Given the description of an element on the screen output the (x, y) to click on. 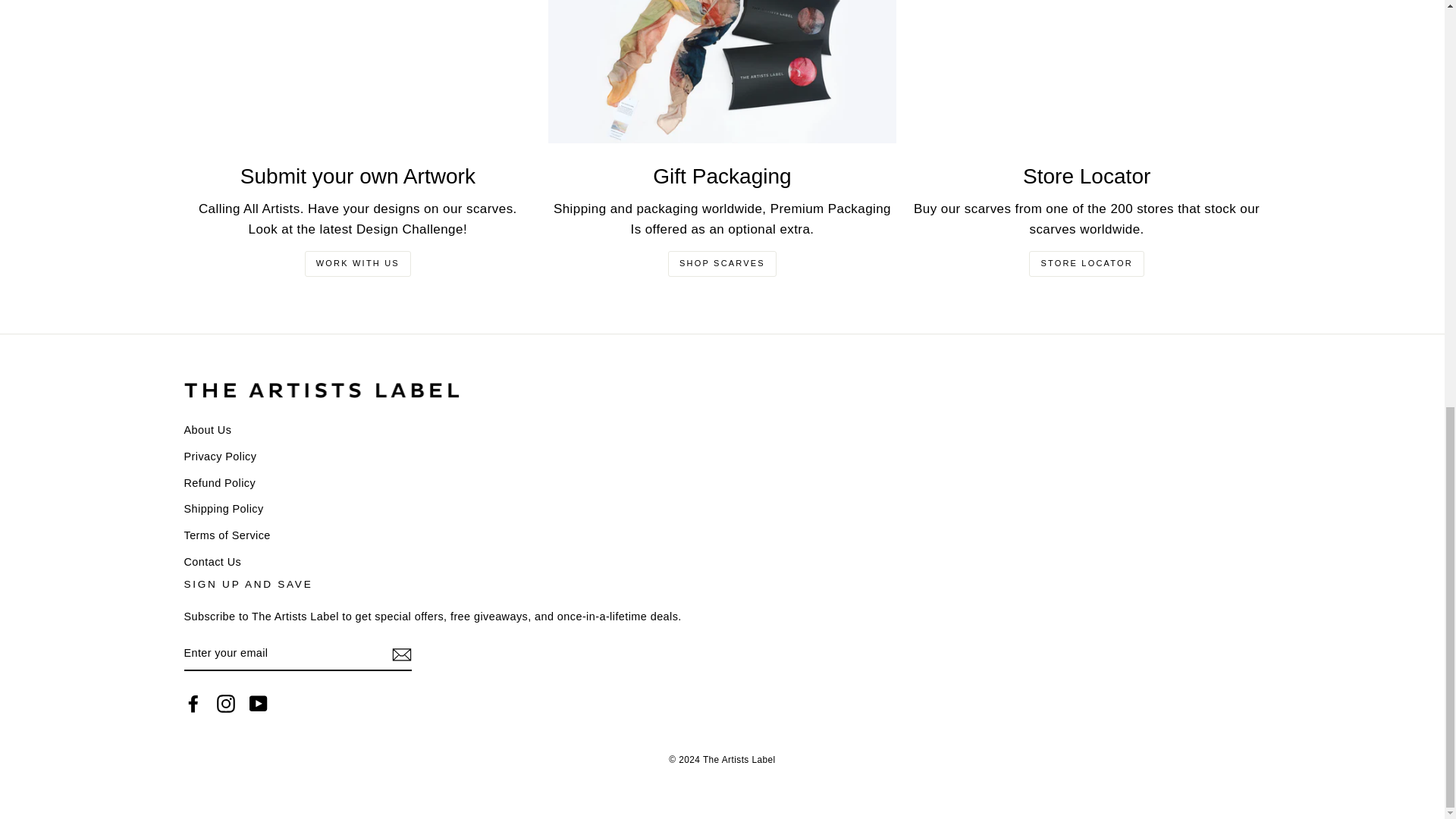
The Artists Label on Instagram (225, 702)
The Artists Label on Facebook (192, 702)
The Artists Label on YouTube (257, 702)
